Given the description of an element on the screen output the (x, y) to click on. 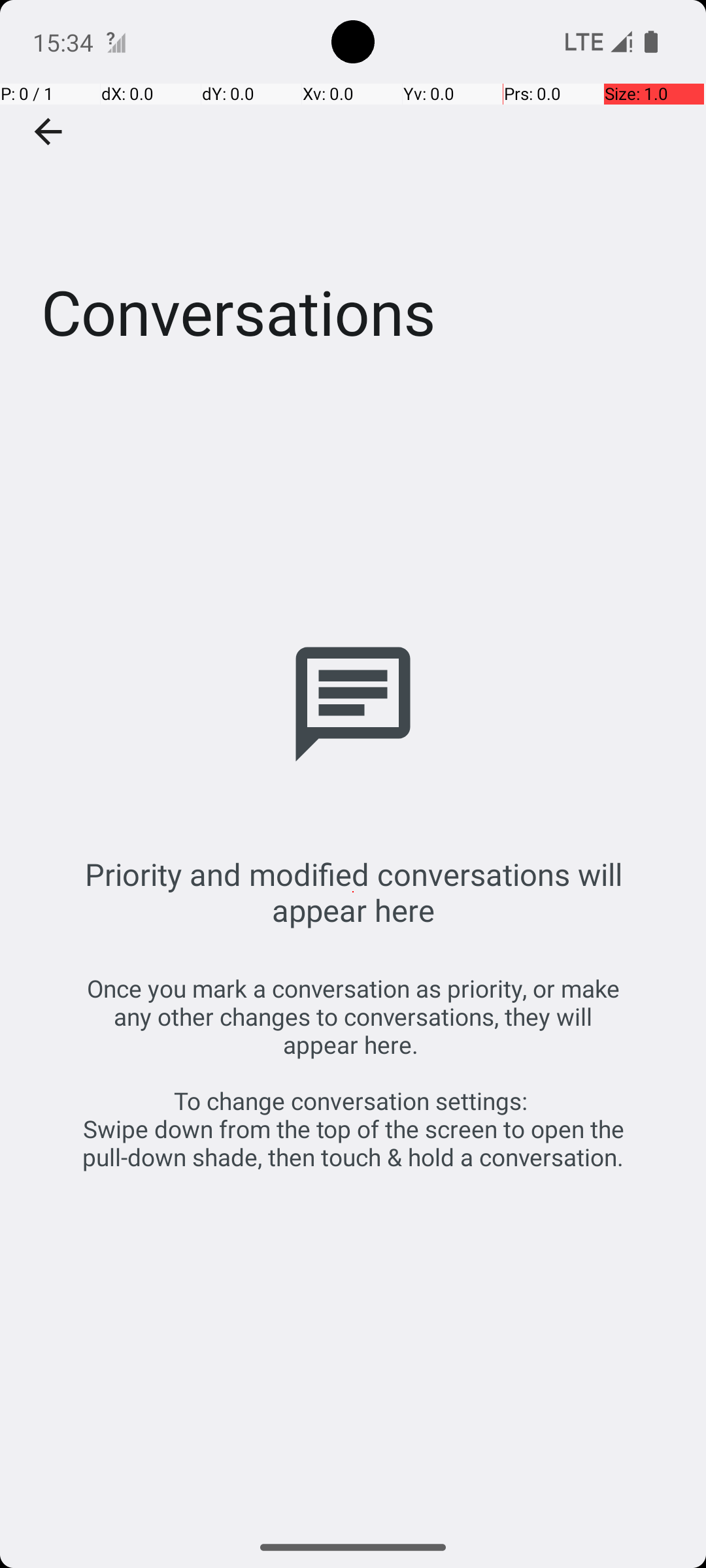
Priority and modified conversations will appear here Element type: android.widget.TextView (352, 891)
Once you mark a conversation as priority, or make any other changes to conversations, they will appear here. 

To change conversation settings: 
Swipe down from the top of the screen to open the pull-down shade, then touch & hold a conversation. Element type: android.widget.TextView (352, 1072)
